Given the description of an element on the screen output the (x, y) to click on. 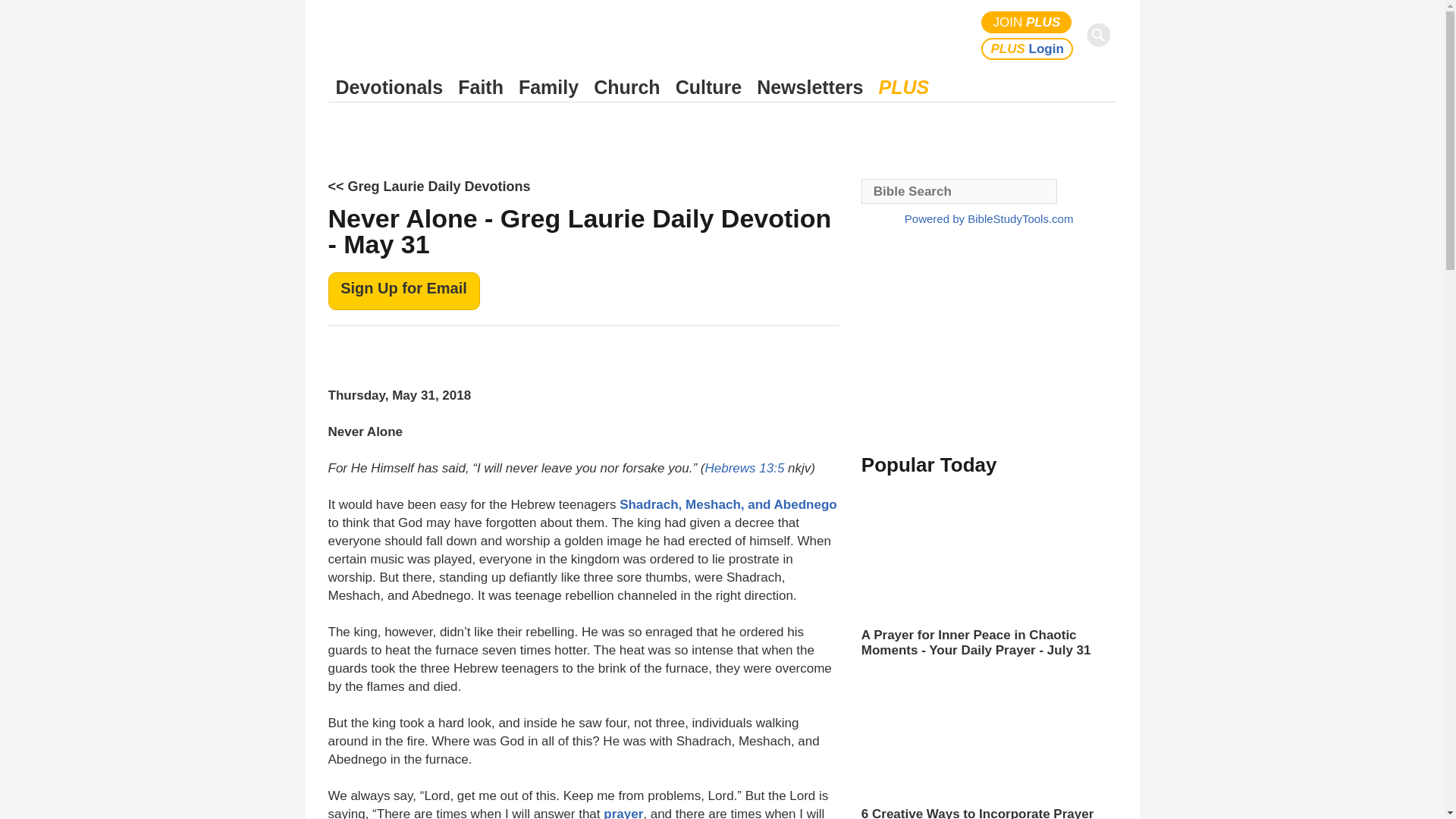
Join Plus (1026, 22)
JOIN PLUS (1026, 22)
Faith (481, 87)
Family (548, 87)
Devotionals (389, 87)
Plus Login (1026, 48)
Search (1101, 34)
PLUS Login (1026, 48)
